Given the description of an element on the screen output the (x, y) to click on. 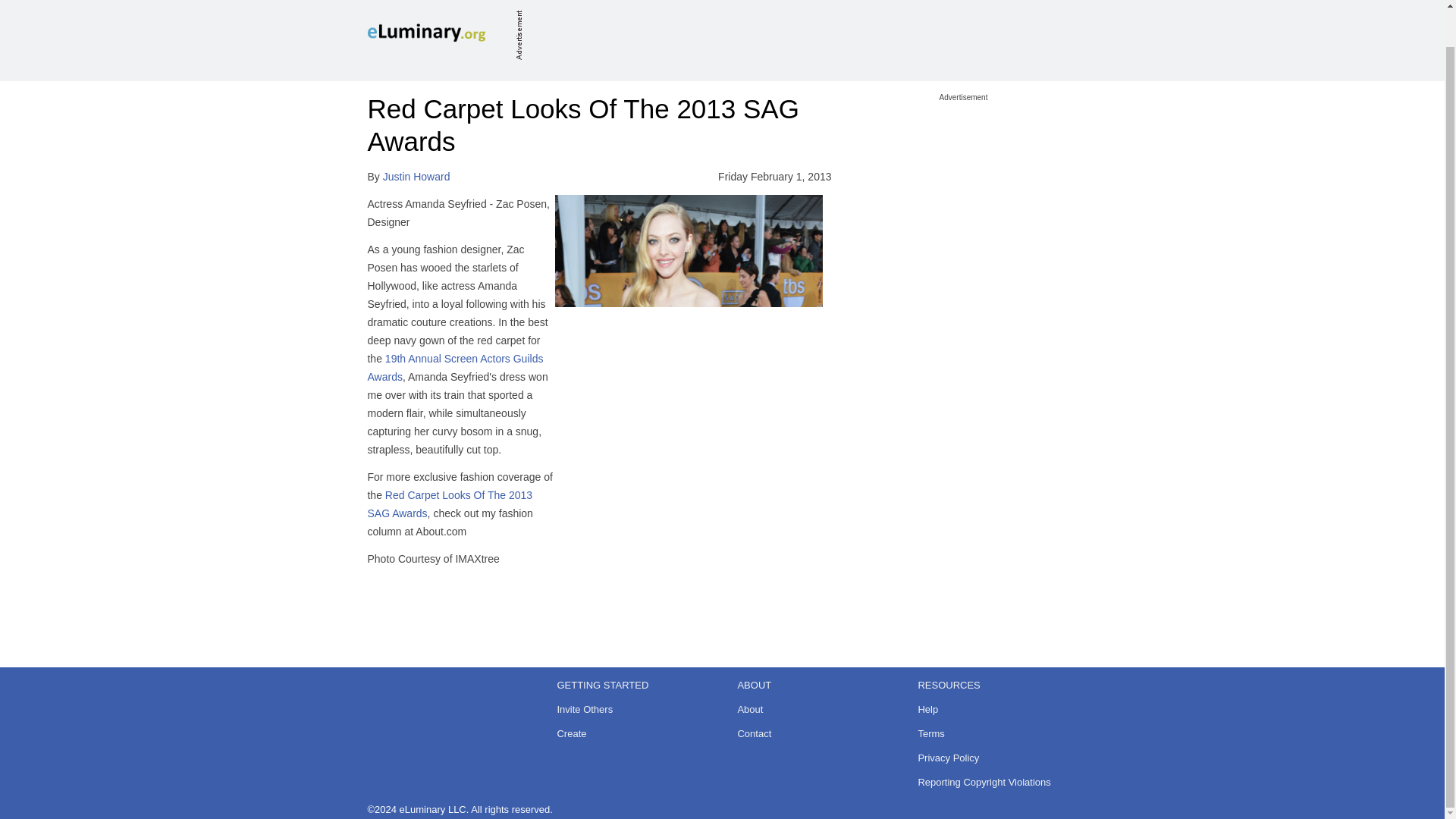
Reporting Copyright Violations (992, 782)
Privacy Policy (992, 758)
Create (631, 733)
Invite Others (631, 710)
Contact (811, 733)
Red Carpet Looks Of The 2013 SAG Awards (449, 503)
Terms (992, 733)
19th Annual Screen Actors Guilds Awards (454, 367)
About (811, 710)
Justin Howard (415, 176)
